Given the description of an element on the screen output the (x, y) to click on. 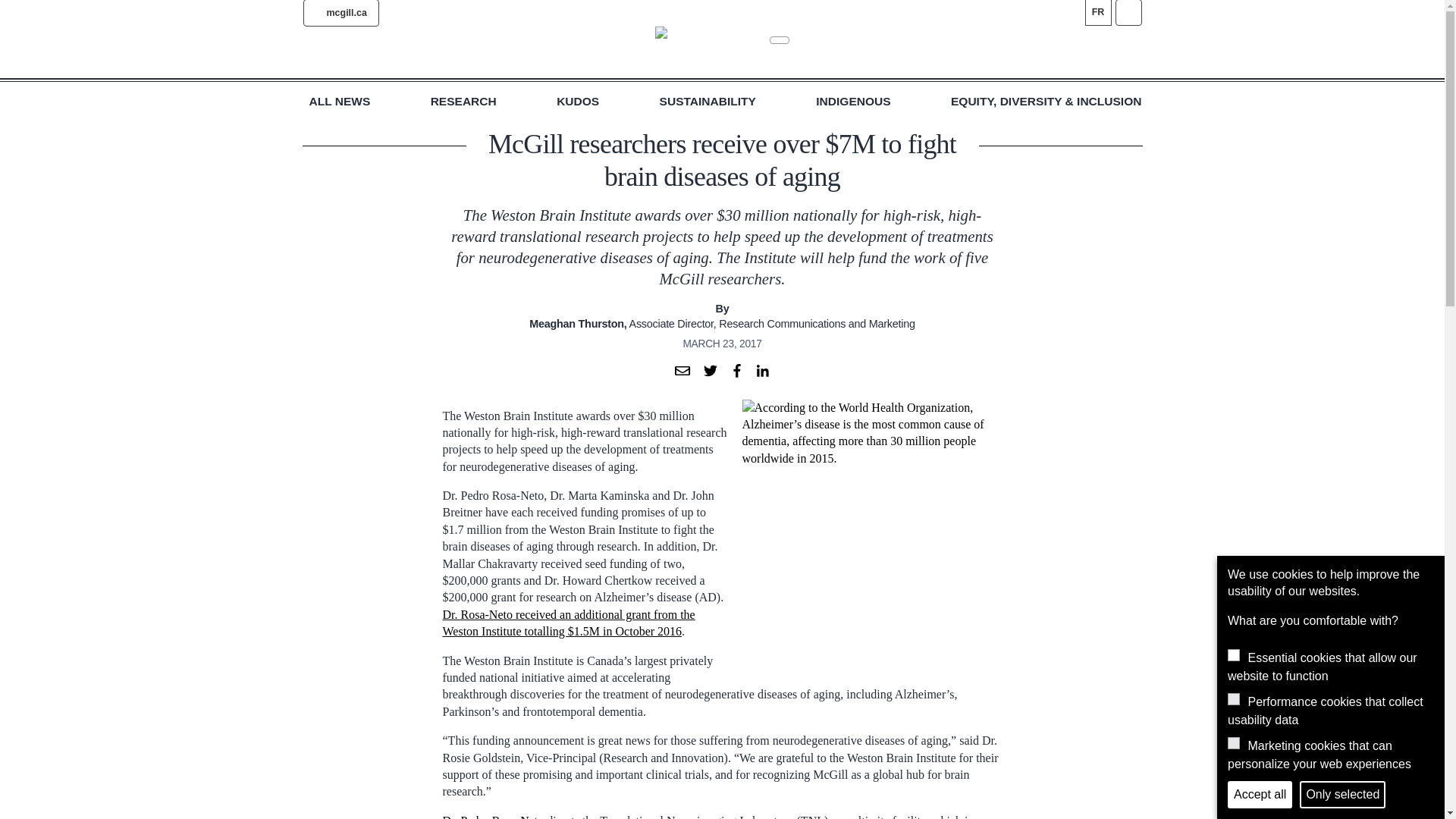
mcgill.ca (340, 13)
performance (1233, 698)
RESEARCH (463, 101)
required (1233, 654)
marketing (1233, 743)
Dr. Pedro Rosa-Neto (493, 816)
FR (1097, 12)
ALL NEWS (339, 101)
INDIGENOUS (852, 101)
KUDOS (576, 101)
